Given the description of an element on the screen output the (x, y) to click on. 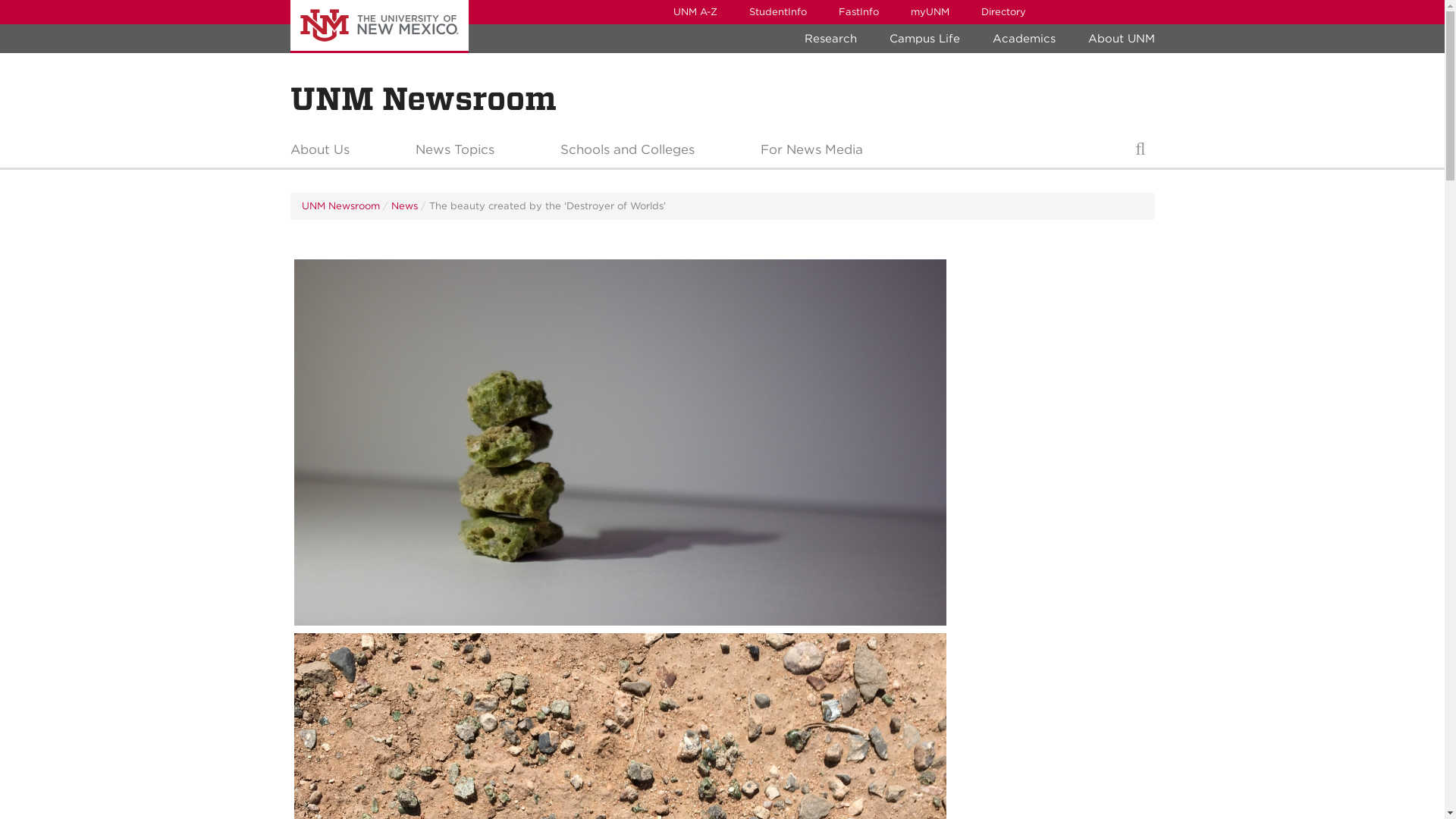
StudentInfo (777, 12)
Directory (1002, 12)
Campus Life (924, 38)
Research (830, 38)
FastInfo (858, 12)
About UNM (1121, 38)
Academics (1024, 38)
Toggle search (1139, 153)
UNM A-Z (694, 12)
myUNM (929, 12)
UNM Newsroom (422, 98)
